Given the description of an element on the screen output the (x, y) to click on. 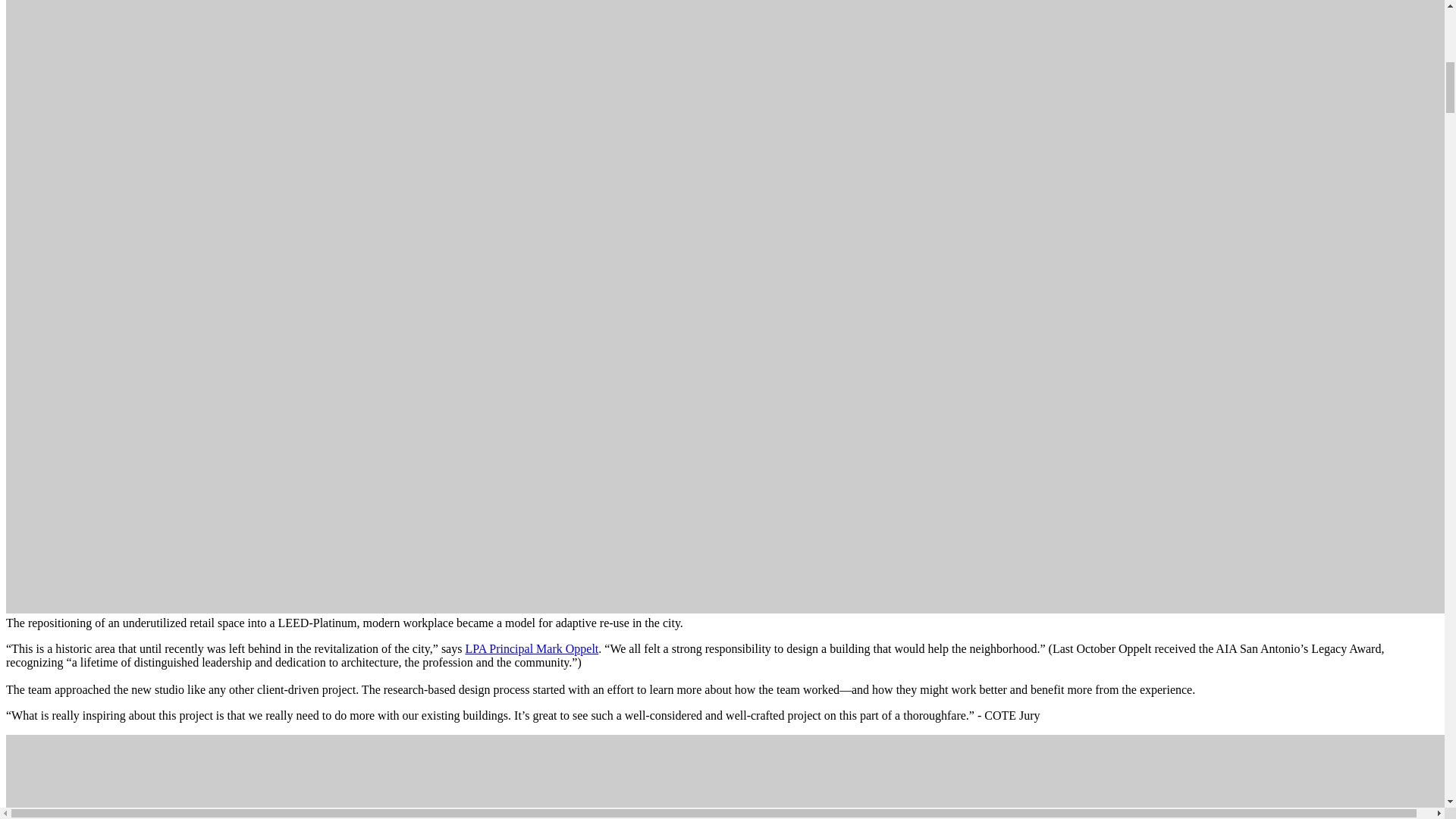
LPA Principal Mark Oppelt (531, 648)
